Given the description of an element on the screen output the (x, y) to click on. 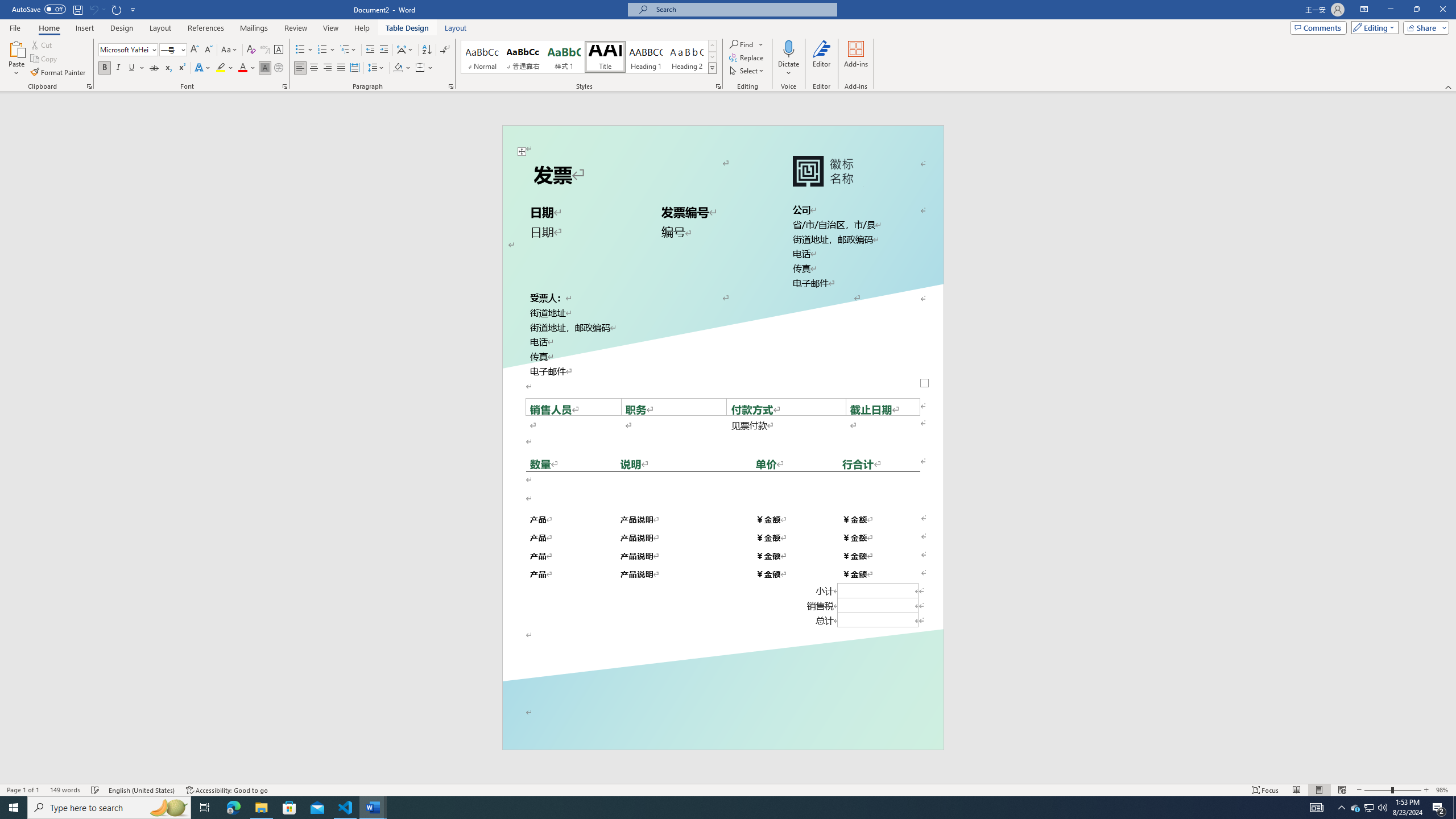
First Page Footer -Section 1- (722, 723)
